Given the description of an element on the screen output the (x, y) to click on. 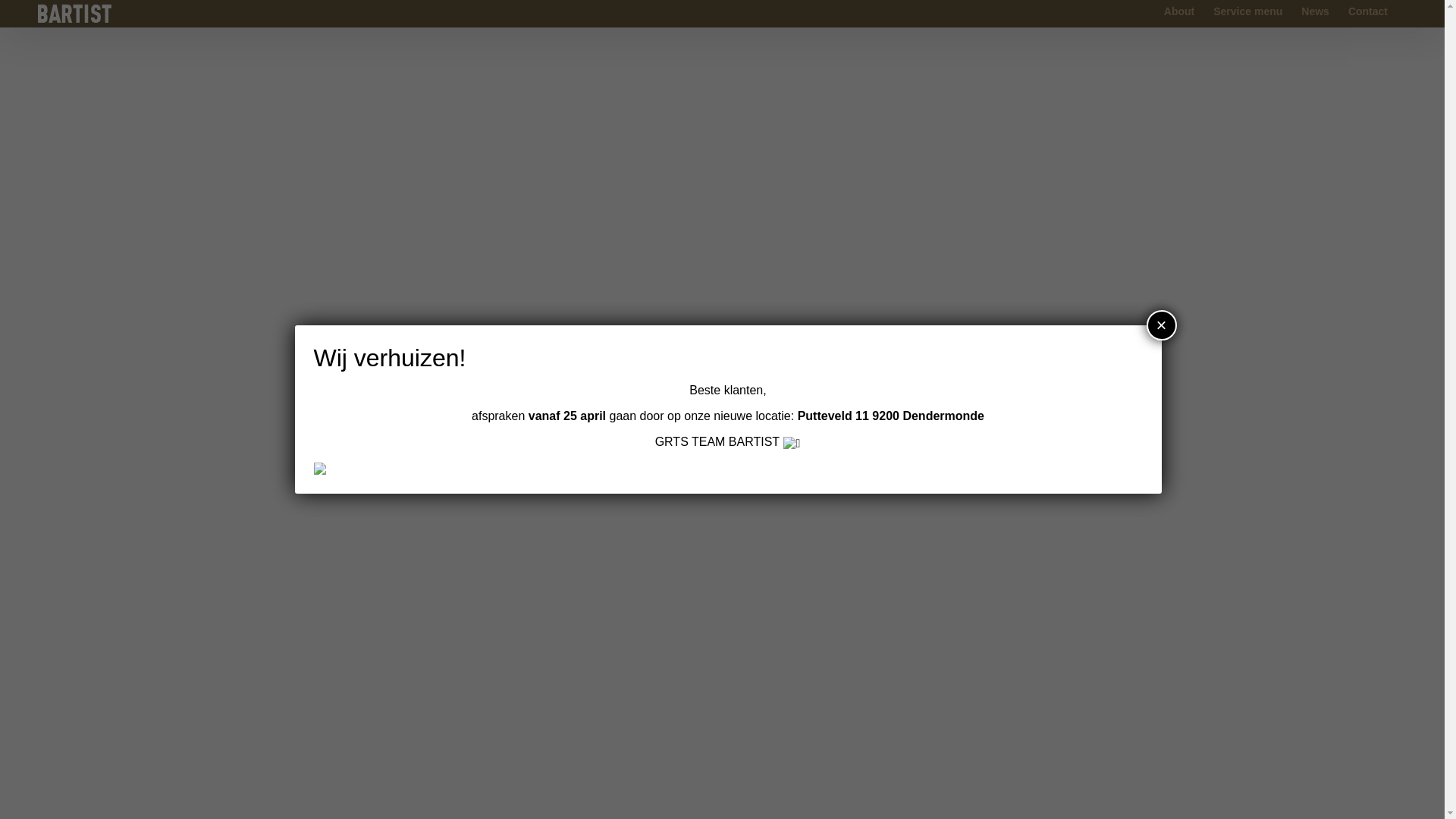
News Element type: text (1315, 10)
Contact Element type: text (1367, 10)
Service menu Element type: text (1247, 10)
About Element type: text (1179, 10)
